Given the description of an element on the screen output the (x, y) to click on. 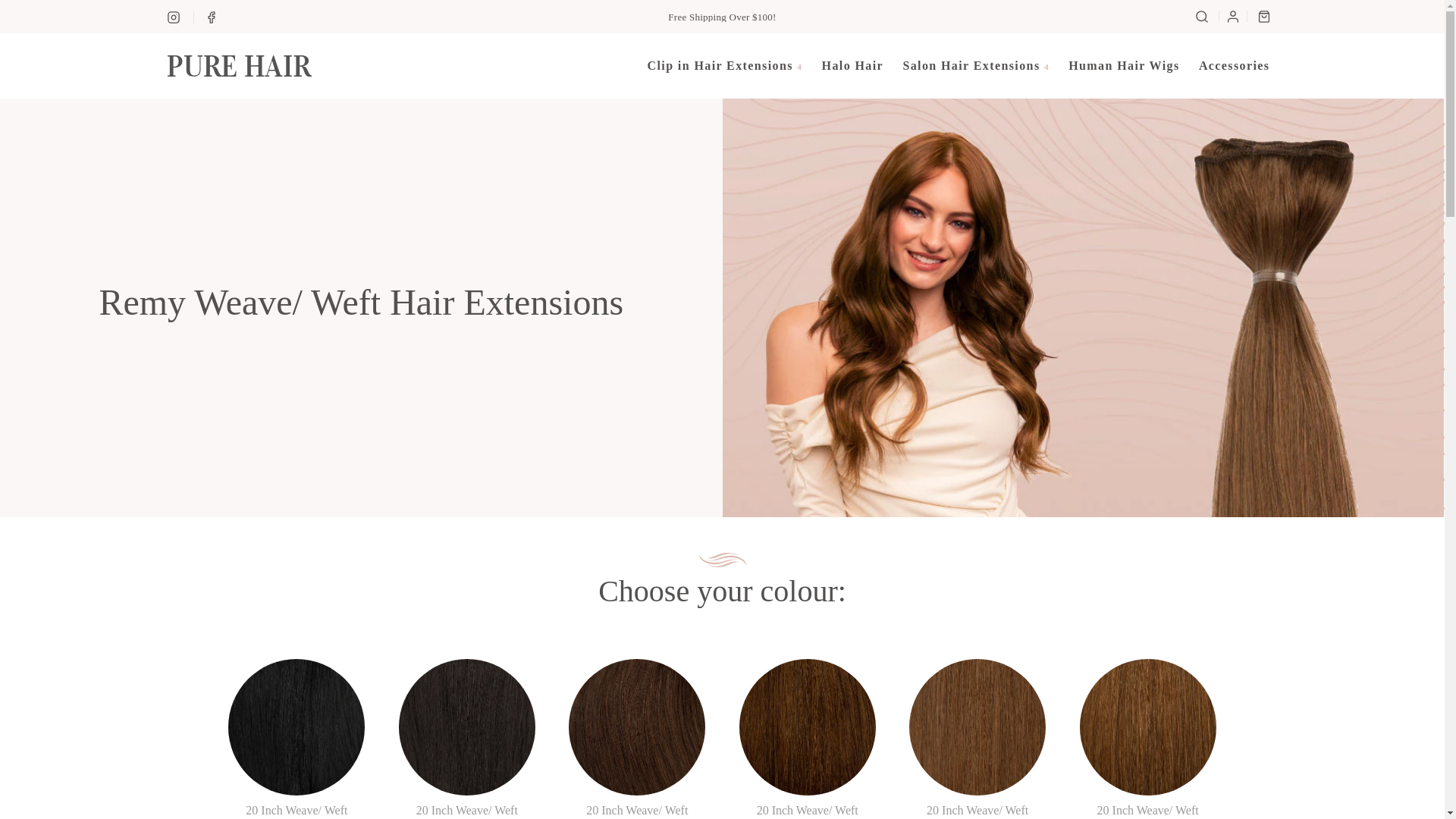
Human Hair Wigs (1123, 65)
Salon Hair Extensions (976, 65)
Accessories (1234, 65)
Clip in Hair Extensions (725, 65)
Halo Hair (852, 65)
